Given the description of an element on the screen output the (x, y) to click on. 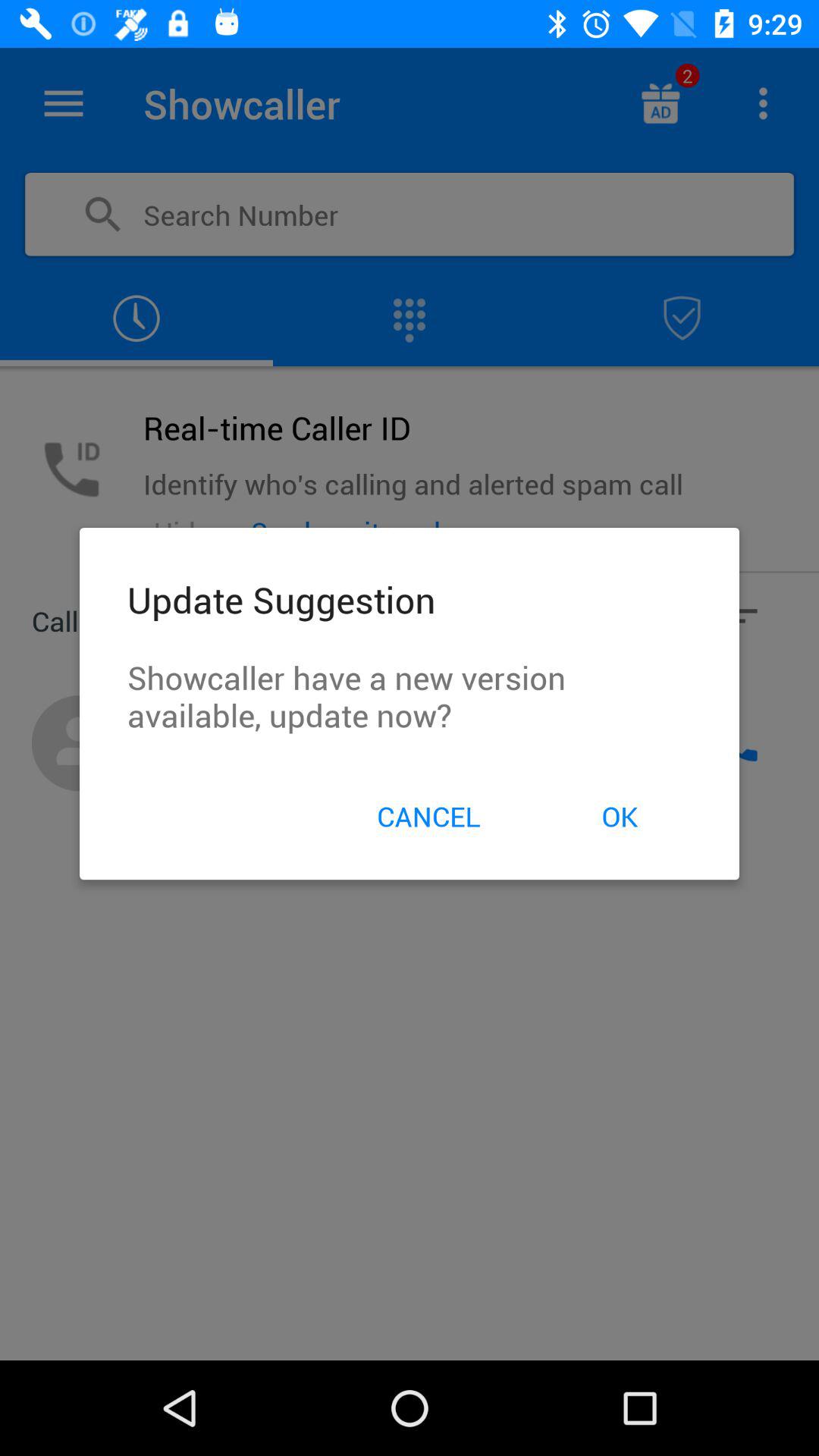
click ok item (619, 815)
